Given the description of an element on the screen output the (x, y) to click on. 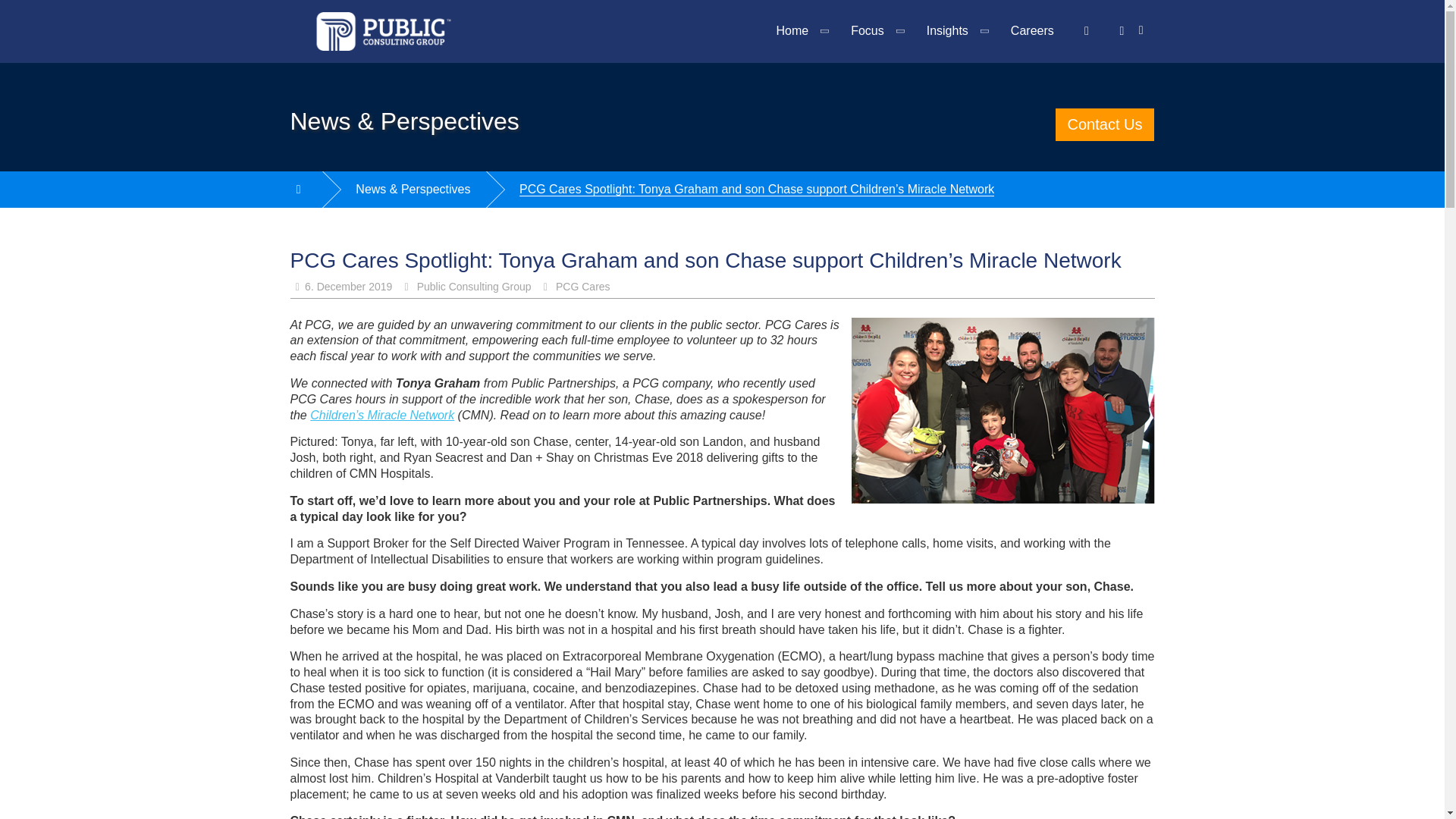
Focus (876, 31)
Insights (956, 31)
Careers (1032, 31)
Public Consulting Group (473, 286)
Contact Us (1104, 124)
PCG Cares (583, 286)
Home (801, 31)
